Given the description of an element on the screen output the (x, y) to click on. 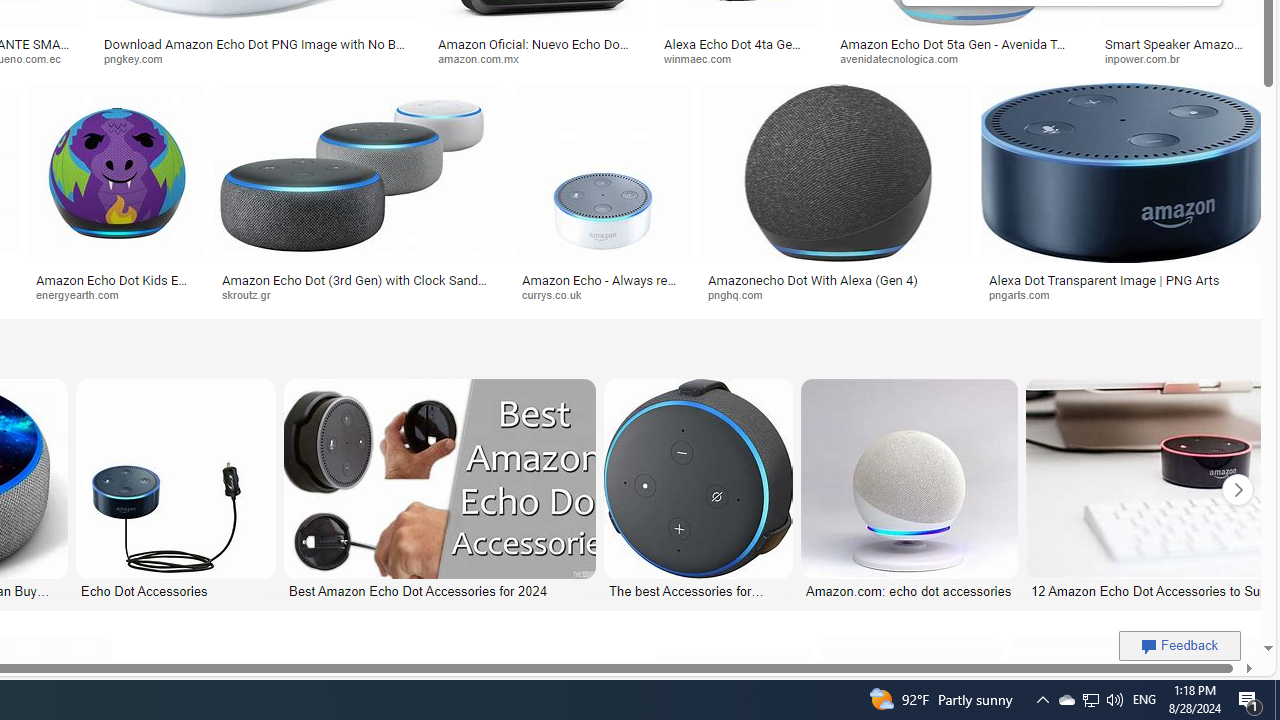
amazon.com.mx (538, 58)
inpower.com.br (1149, 57)
pngarts.com (1026, 294)
Amazonecho Dot With Alexa (Gen 4) (836, 279)
Amazon Echo Dot Kids Edition - 5th Generation (117, 286)
